Given the description of an element on the screen output the (x, y) to click on. 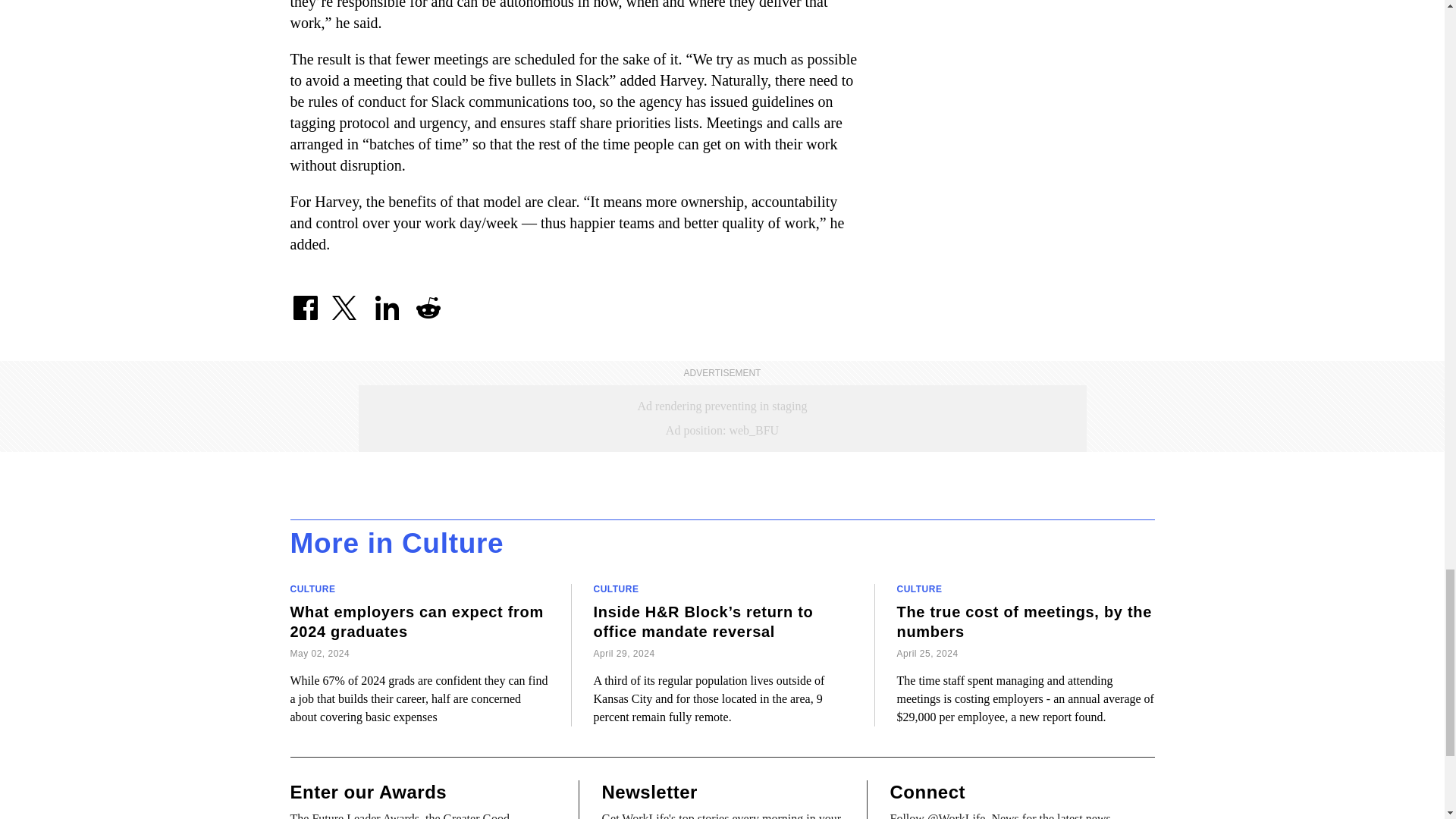
Share on Facebook (304, 300)
Share on LinkedIn (386, 300)
Share on Reddit (427, 300)
Share on Twitter (345, 300)
